Given the description of an element on the screen output the (x, y) to click on. 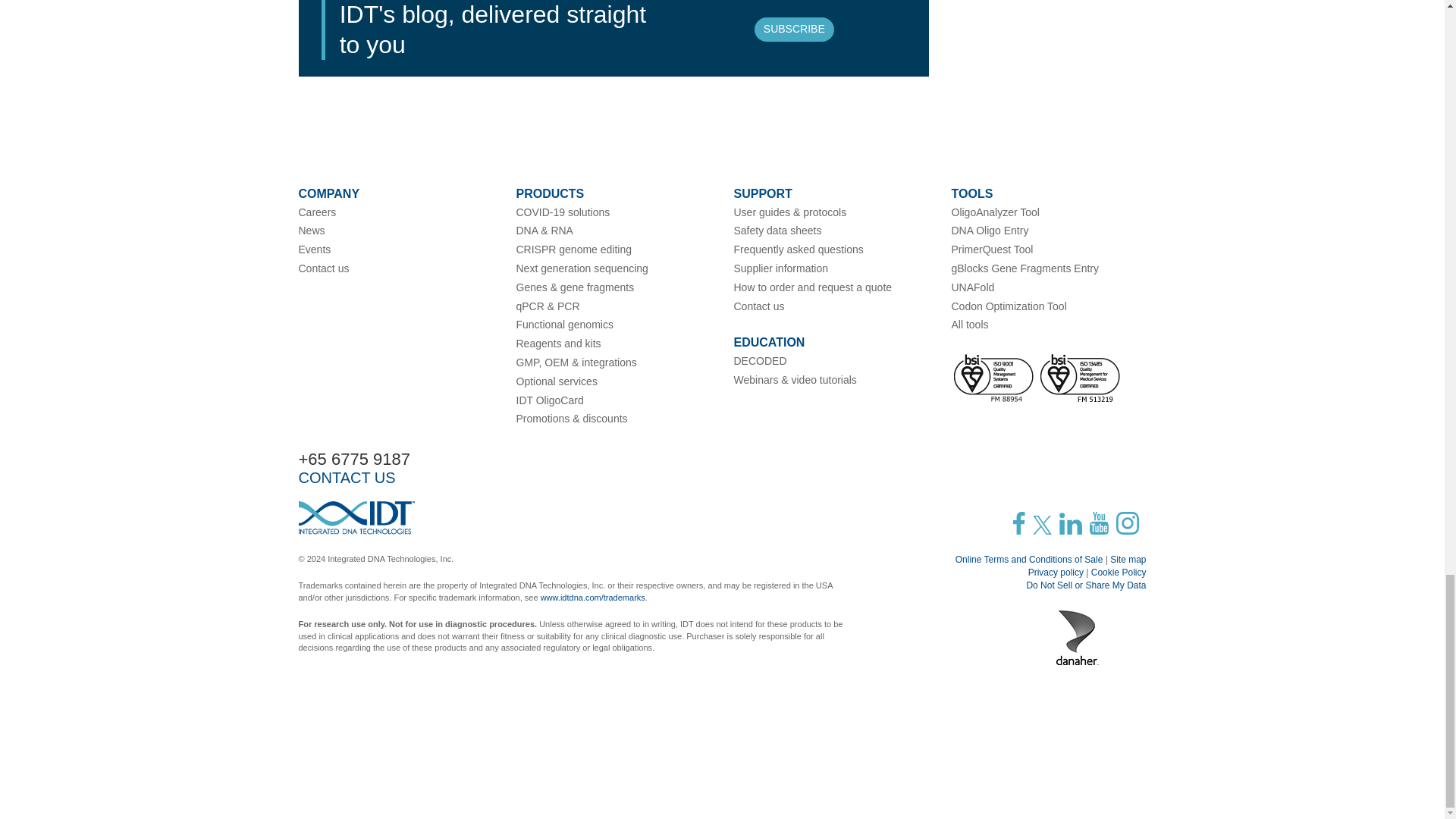
Integrated DNA Technologies (356, 517)
